Given the description of an element on the screen output the (x, y) to click on. 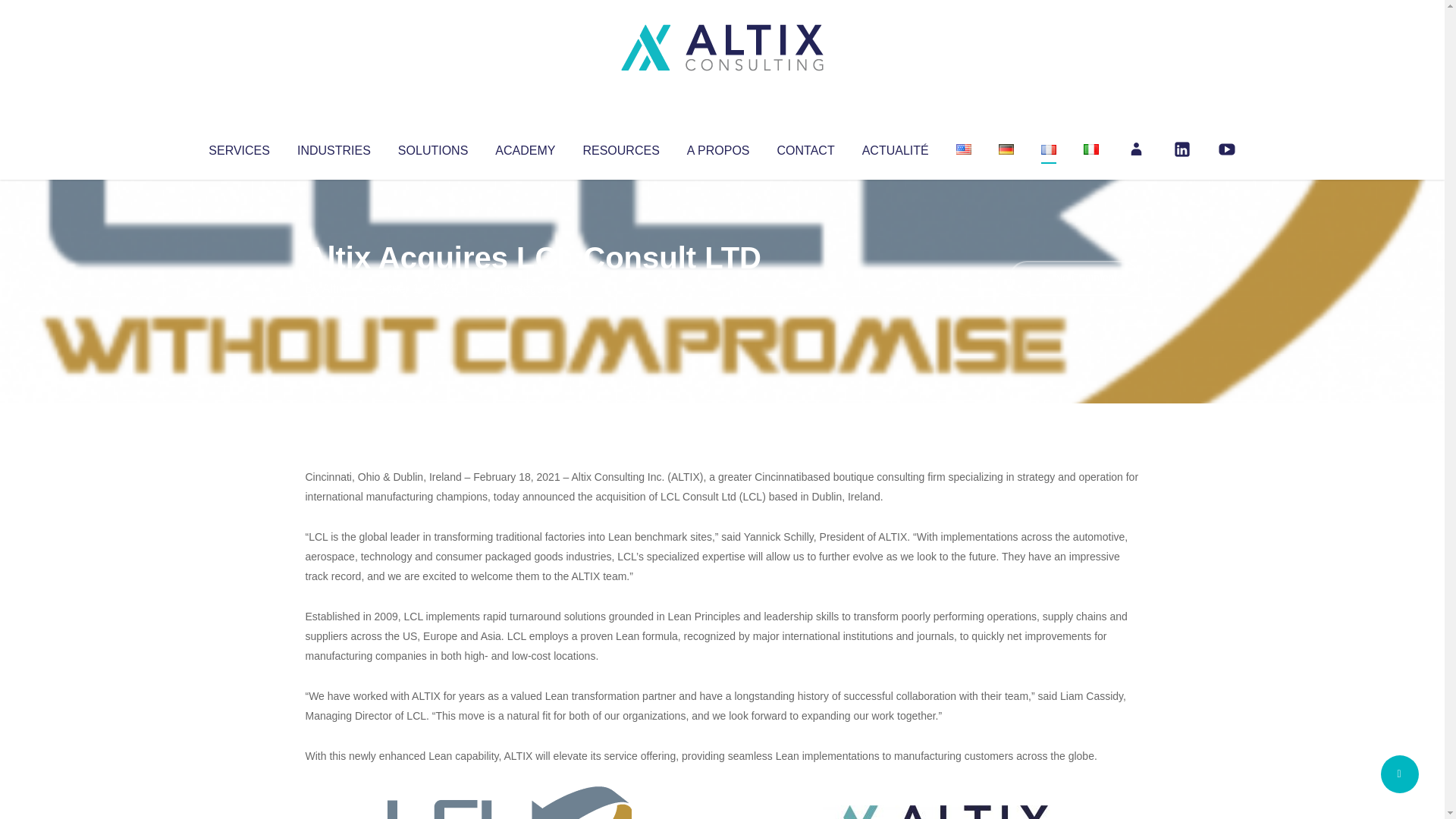
SERVICES (238, 146)
Altix (333, 287)
Uncategorized (530, 287)
ACADEMY (524, 146)
INDUSTRIES (334, 146)
No Comments (1073, 278)
A PROPOS (718, 146)
Articles par Altix (333, 287)
SOLUTIONS (432, 146)
RESOURCES (620, 146)
